Given the description of an element on the screen output the (x, y) to click on. 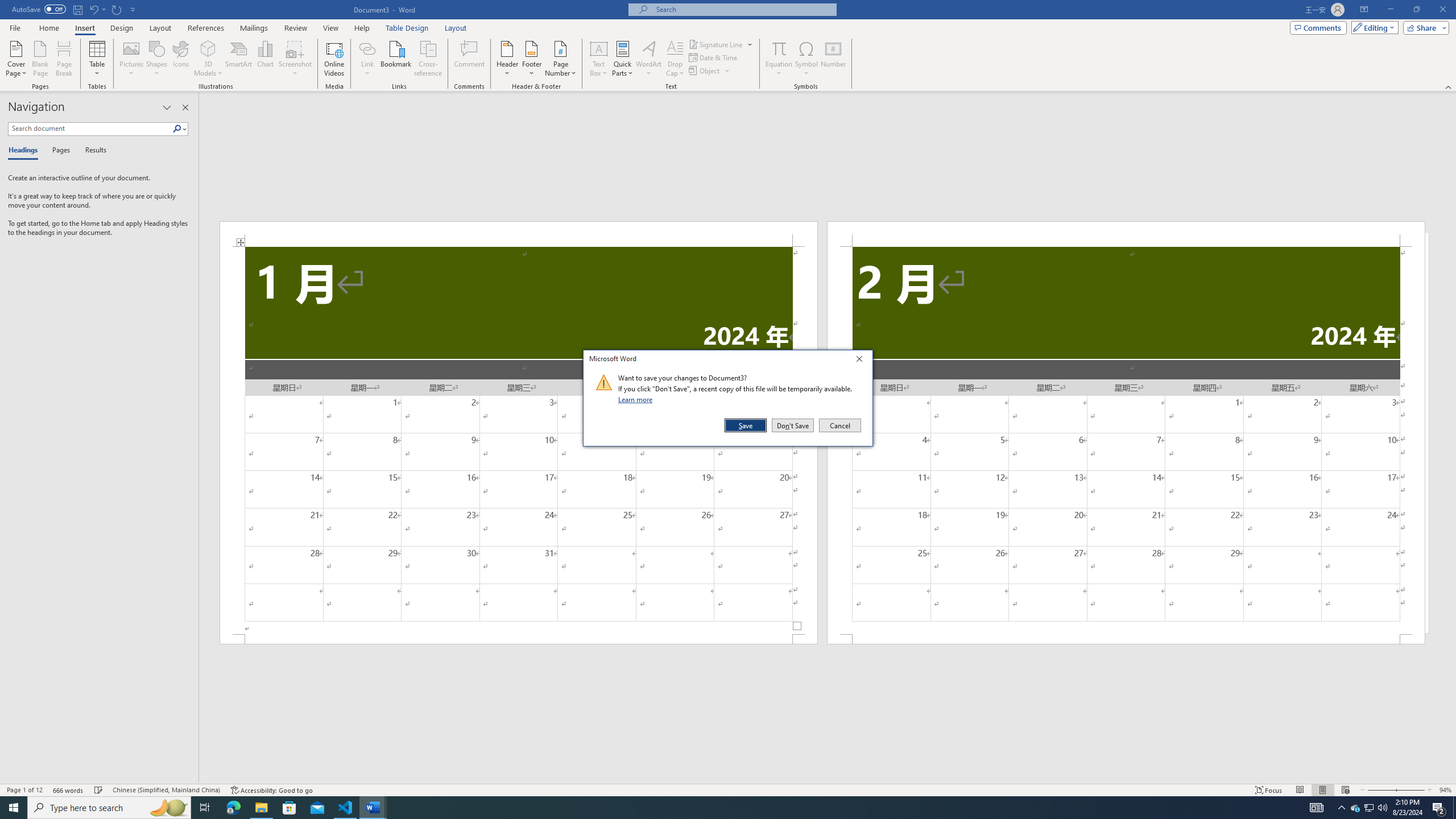
File Explorer - 1 running window (261, 807)
Don't Save (792, 425)
Page Break (63, 58)
Object... (705, 69)
Footer (531, 58)
Bookmark... (396, 58)
Equation (778, 58)
